Given the description of an element on the screen output the (x, y) to click on. 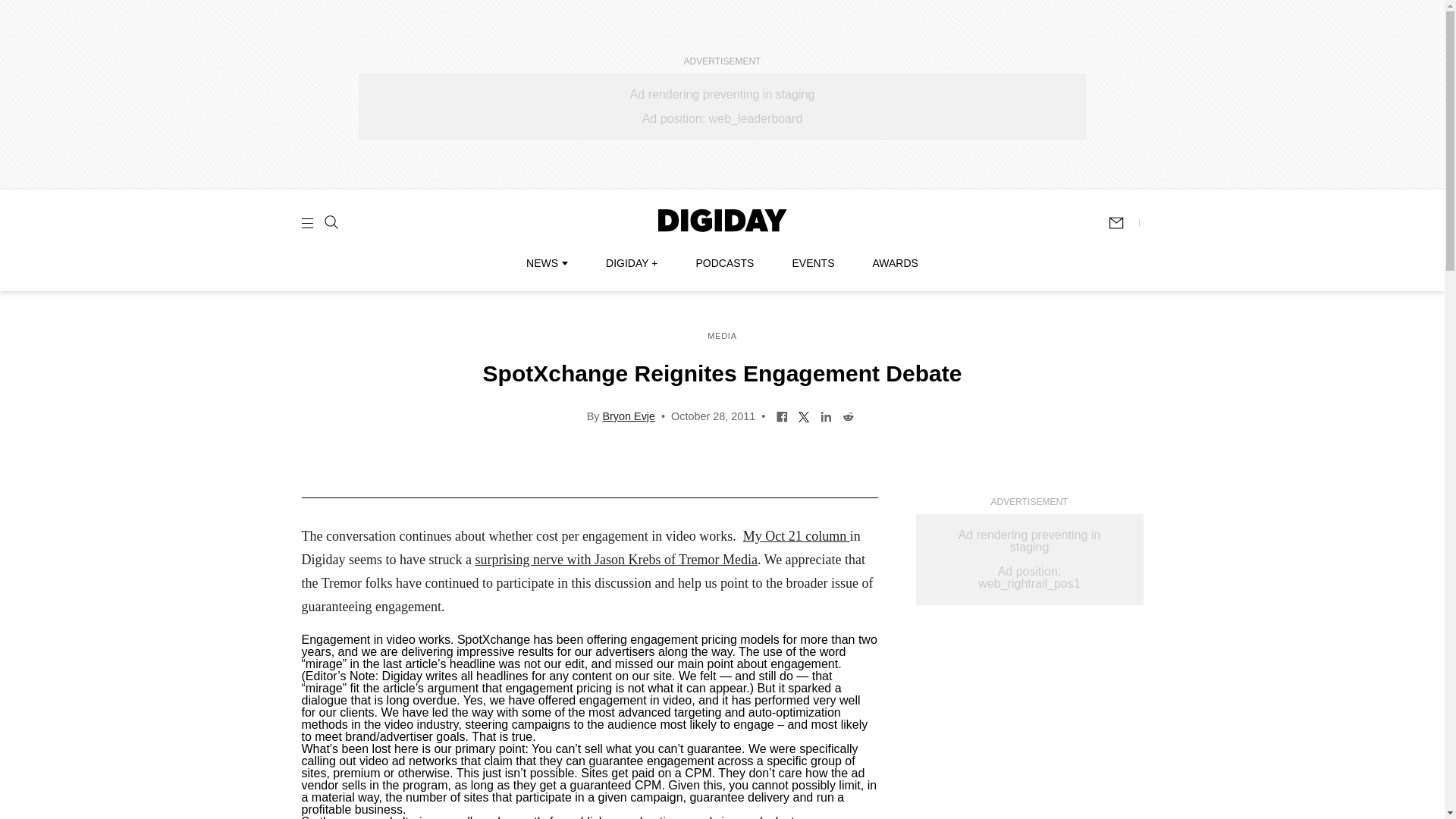
PODCASTS (725, 262)
Share on LinkedIn (825, 415)
Share on Twitter (803, 415)
NEWS (546, 262)
AWARDS (894, 262)
Share on Reddit (847, 415)
Subscribe (1123, 223)
Share on Facebook (782, 415)
EVENTS (813, 262)
